Given the description of an element on the screen output the (x, y) to click on. 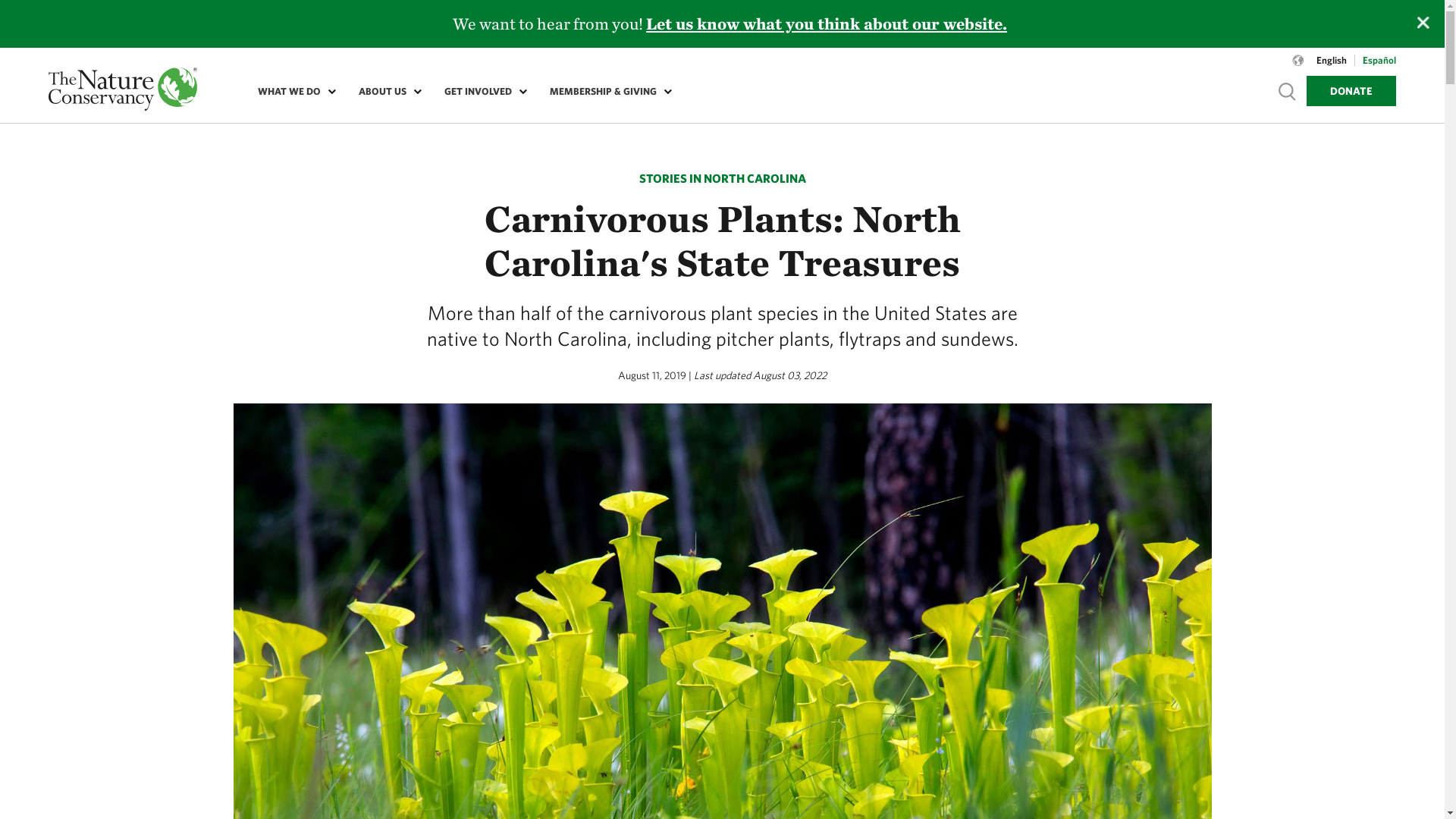
Close (1422, 22)
ABOUT US (386, 91)
GET INVOLVED (481, 91)
English (1331, 60)
WHAT WE DO (293, 91)
Let us know what you think about our website. (828, 23)
